Given the description of an element on the screen output the (x, y) to click on. 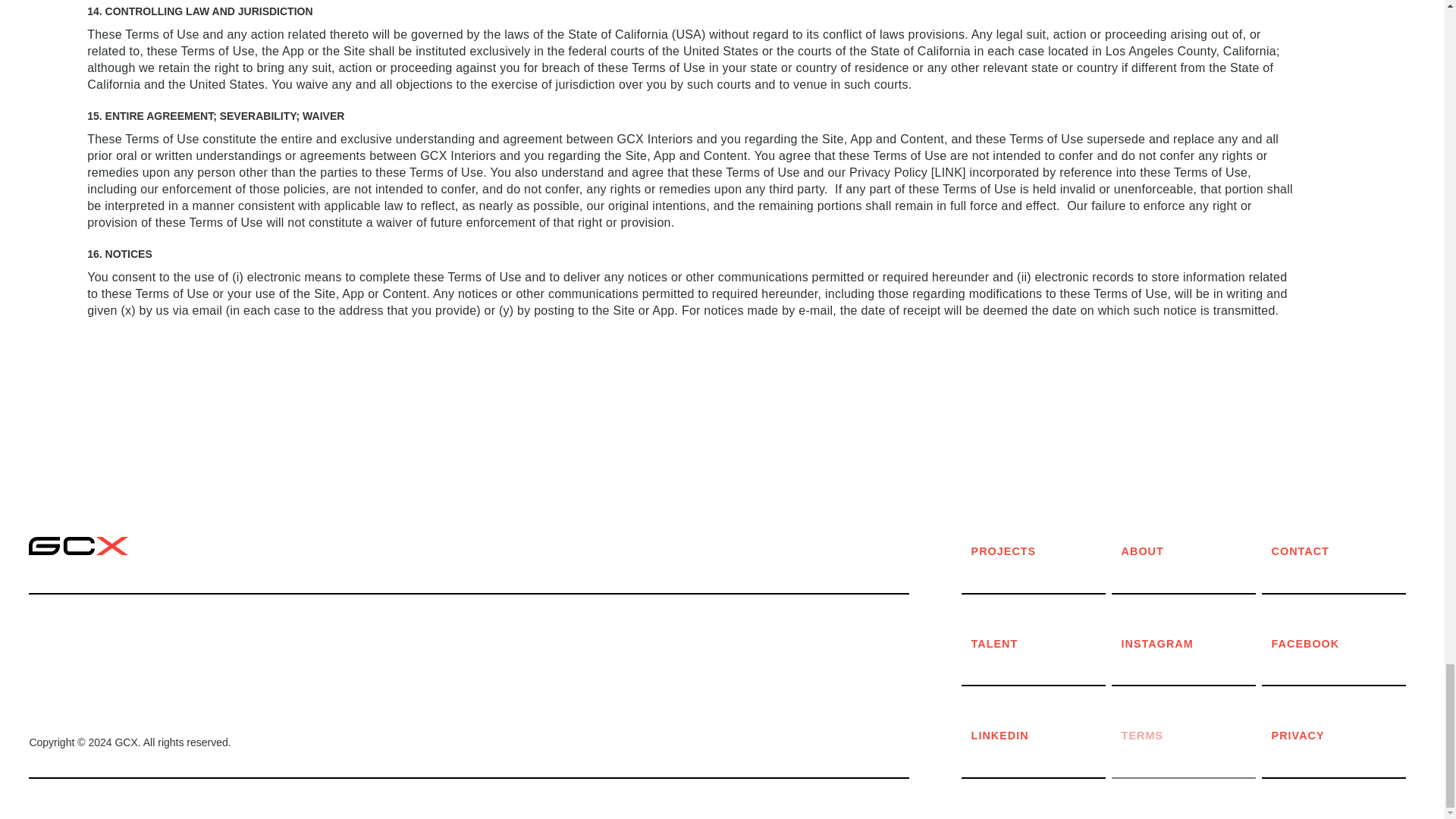
FACEBOOK (1342, 643)
TALENT (1042, 643)
INSTAGRAM (1192, 643)
PRIVACY (1342, 735)
TERMS (1192, 735)
LINKEDIN (1042, 735)
ABOUT (1192, 552)
PROJECTS (1042, 552)
CONTACT (1342, 552)
